Given the description of an element on the screen output the (x, y) to click on. 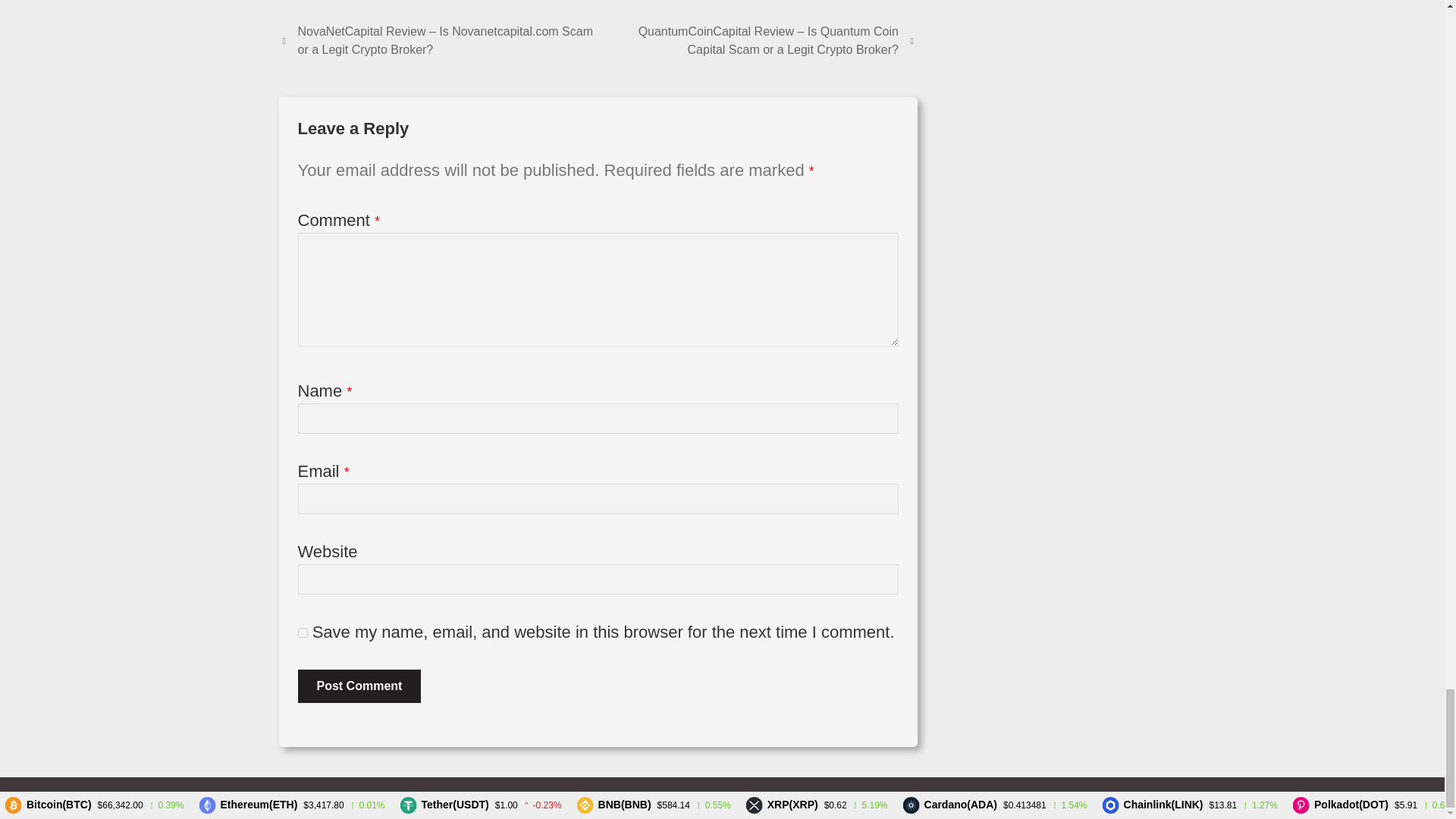
Post Comment (358, 685)
yes (302, 633)
Post Comment (358, 685)
